Given the description of an element on the screen output the (x, y) to click on. 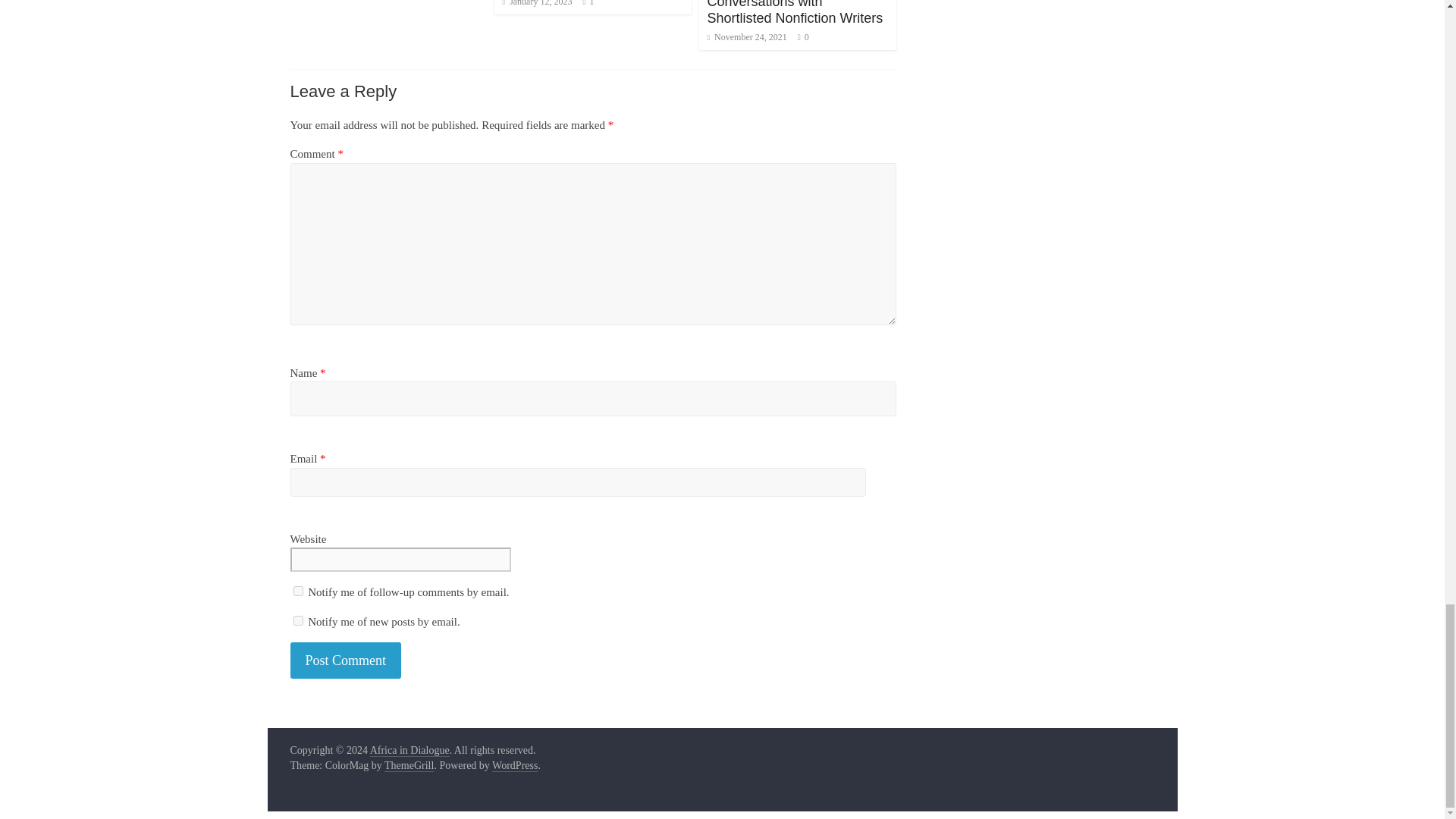
subscribe (297, 591)
subscribe (297, 620)
Post Comment (345, 660)
